Given the description of an element on the screen output the (x, y) to click on. 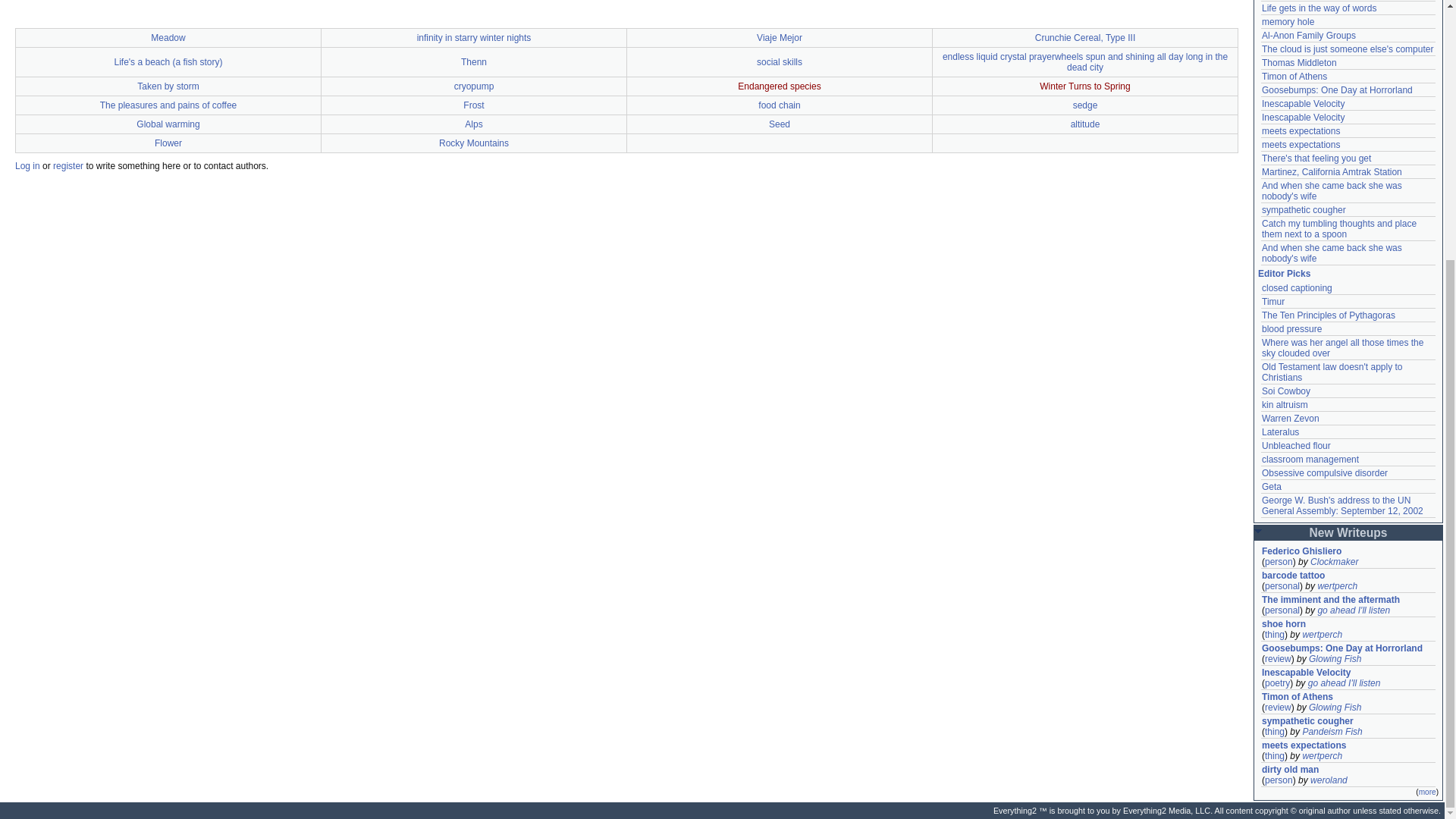
The pleasures and pains of coffee (168, 104)
infinity in starry winter nights (473, 37)
Taken by storm (167, 86)
Crunchie Cereal, Type III (1085, 37)
Meadow (167, 37)
Frost (473, 104)
sedge (1085, 104)
Winter Turns to Spring (1084, 86)
cryopump (474, 86)
